Given the description of an element on the screen output the (x, y) to click on. 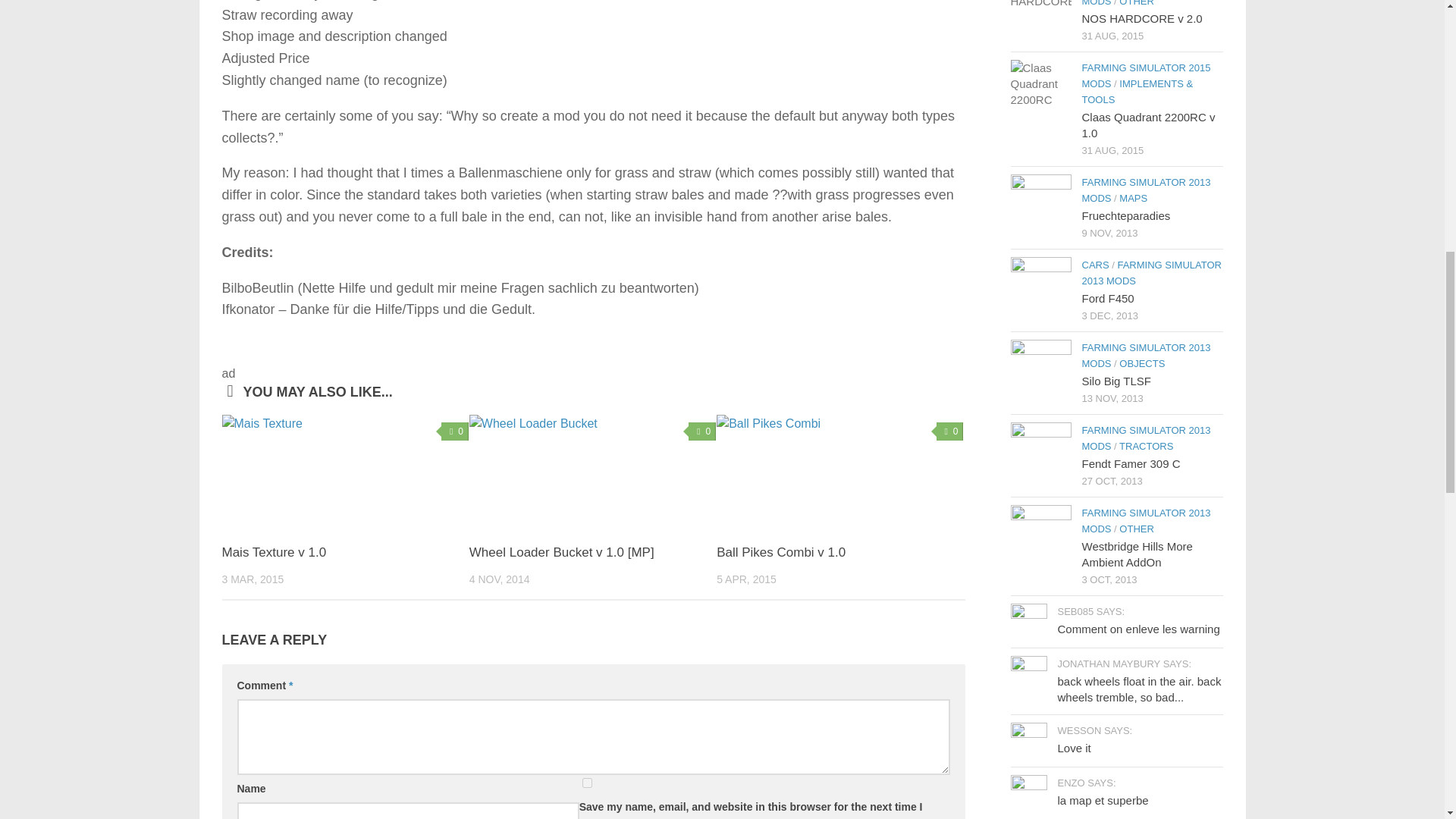
Mais Texture v 1.0 (273, 552)
Ball Pikes Combi v 1.0 (839, 472)
yes (587, 782)
Mais Texture v 1.0 (344, 472)
Ball Pikes Combi v 1.0 (780, 552)
